Given the description of an element on the screen output the (x, y) to click on. 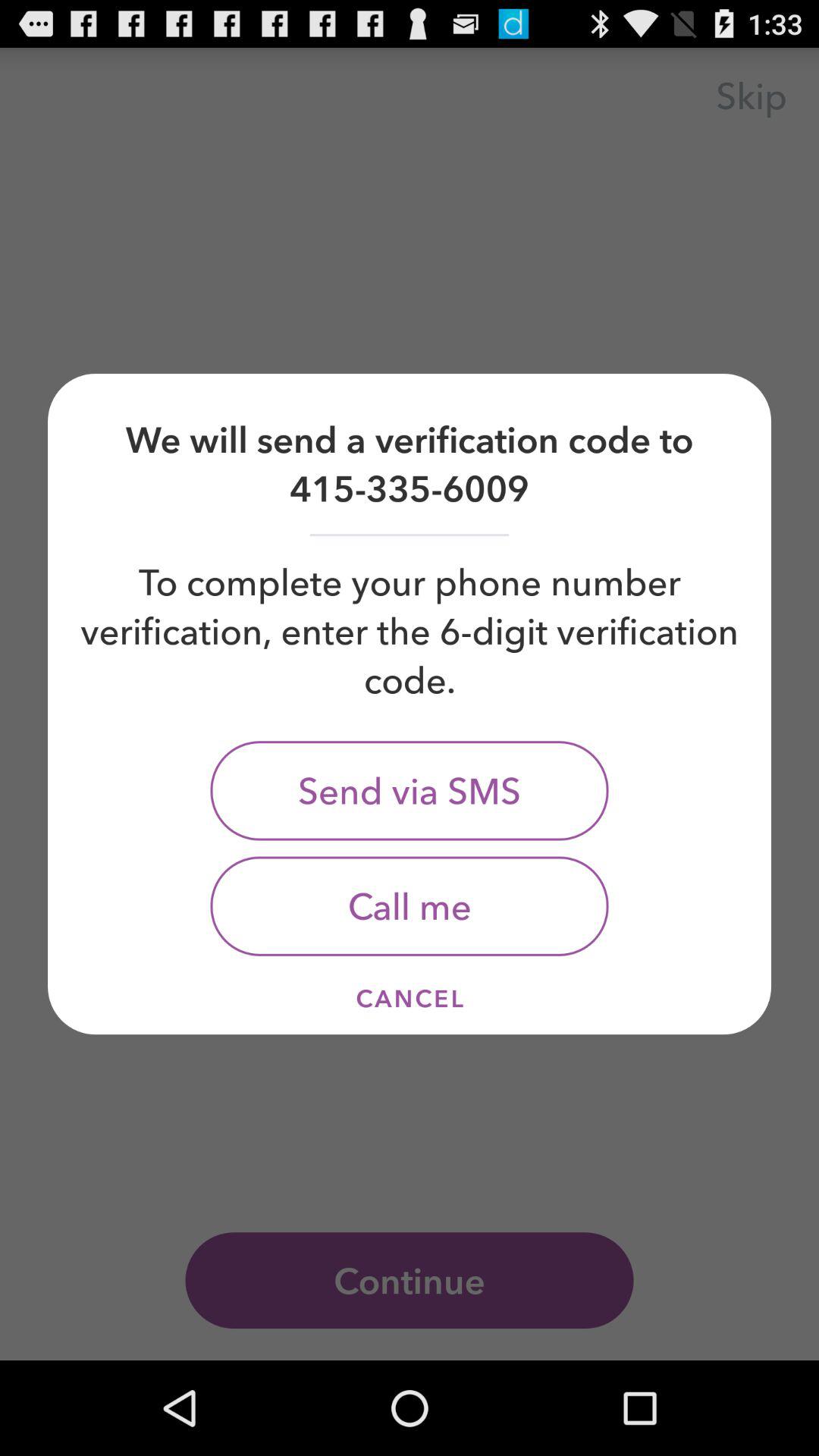
jump to the cancel icon (409, 998)
